Given the description of an element on the screen output the (x, y) to click on. 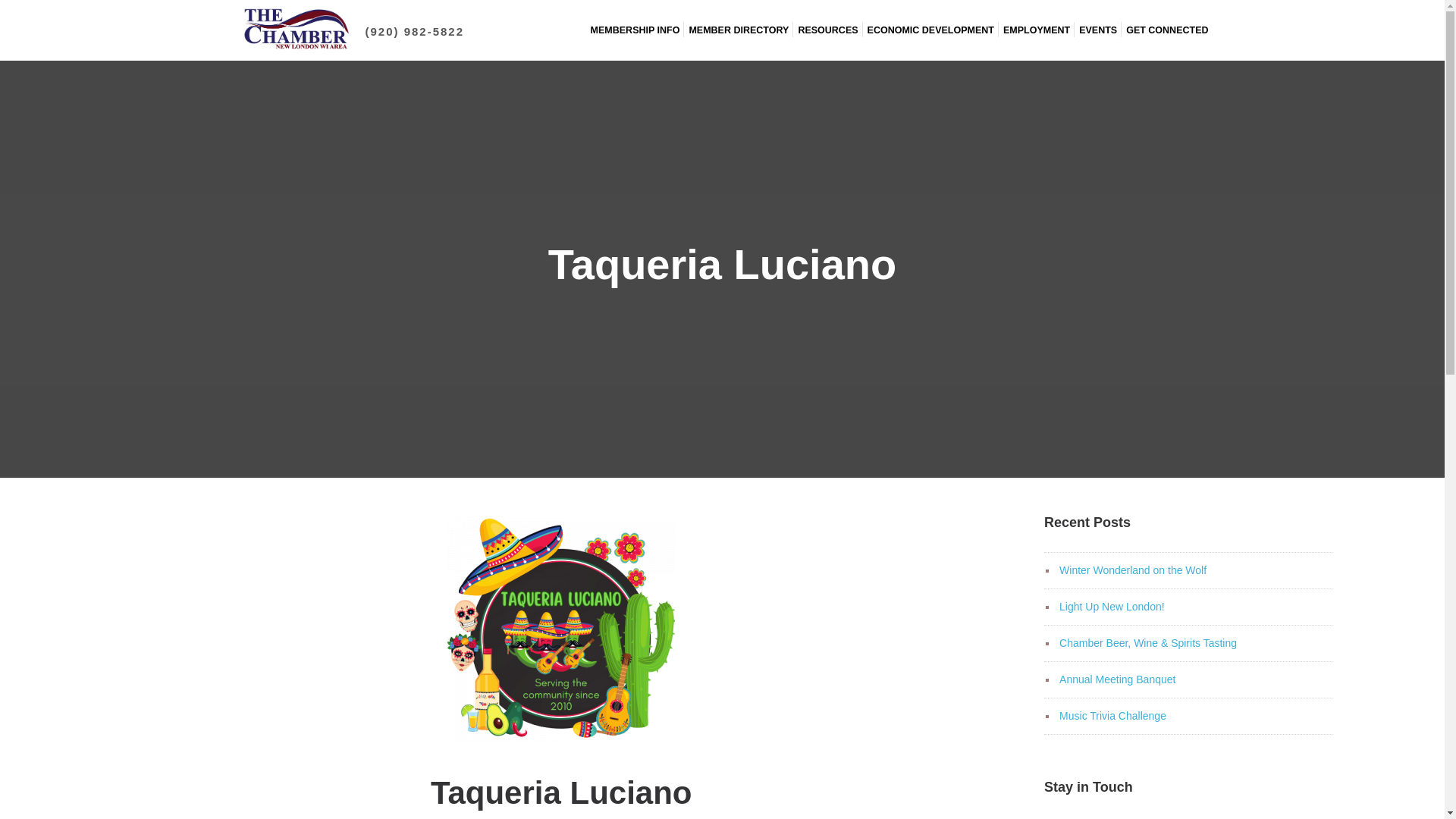
RESOURCES (827, 30)
MEMBER DIRECTORY (738, 30)
GET CONNECTED (1166, 30)
ECONOMIC DEVELOPMENT (930, 30)
EVENTS (1097, 30)
MEMBERSHIP INFO (635, 30)
EMPLOYMENT (1036, 30)
